Given the description of an element on the screen output the (x, y) to click on. 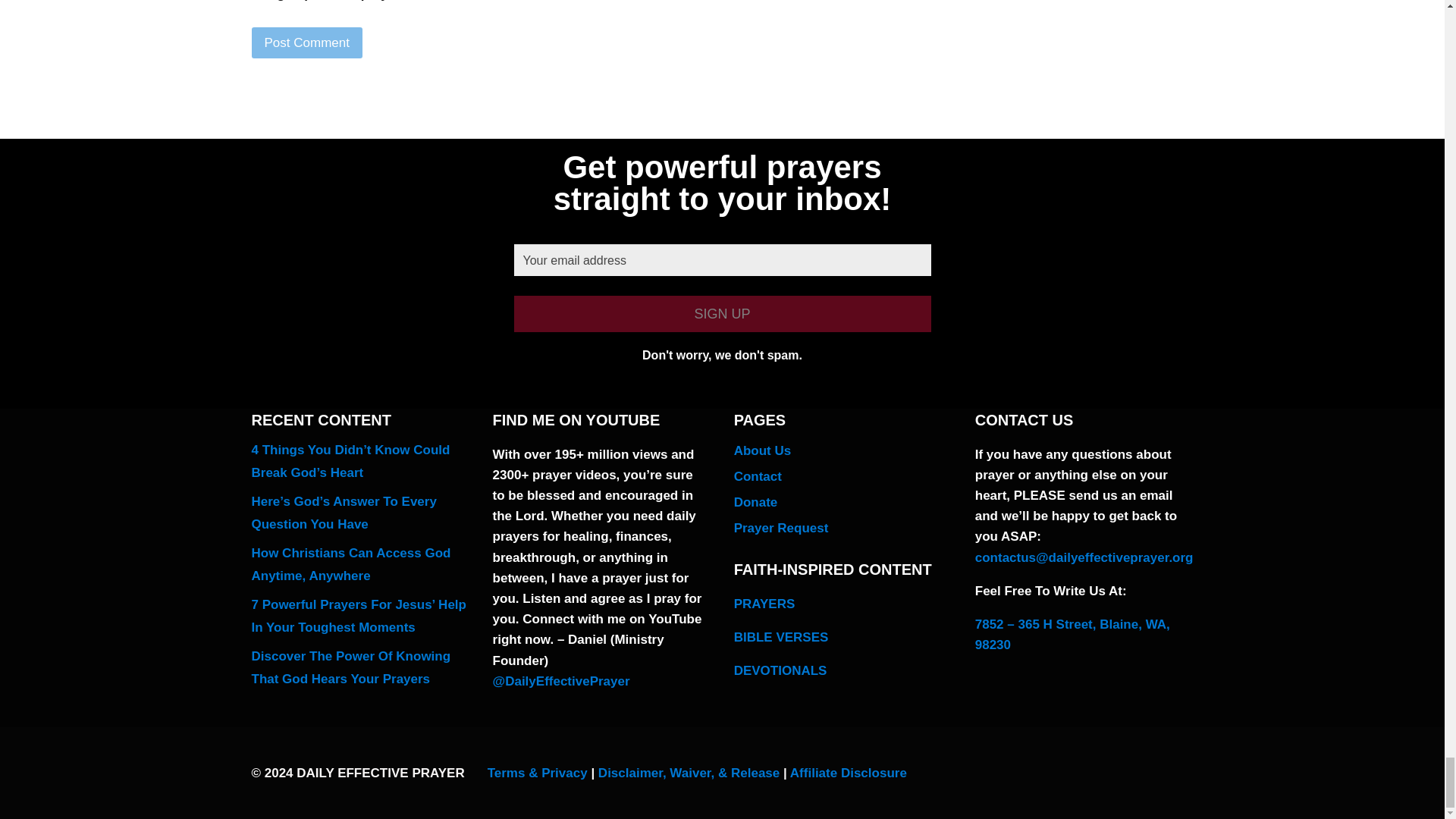
Post Comment (306, 42)
Your email address (722, 260)
SIGN UP (722, 313)
